Given the description of an element on the screen output the (x, y) to click on. 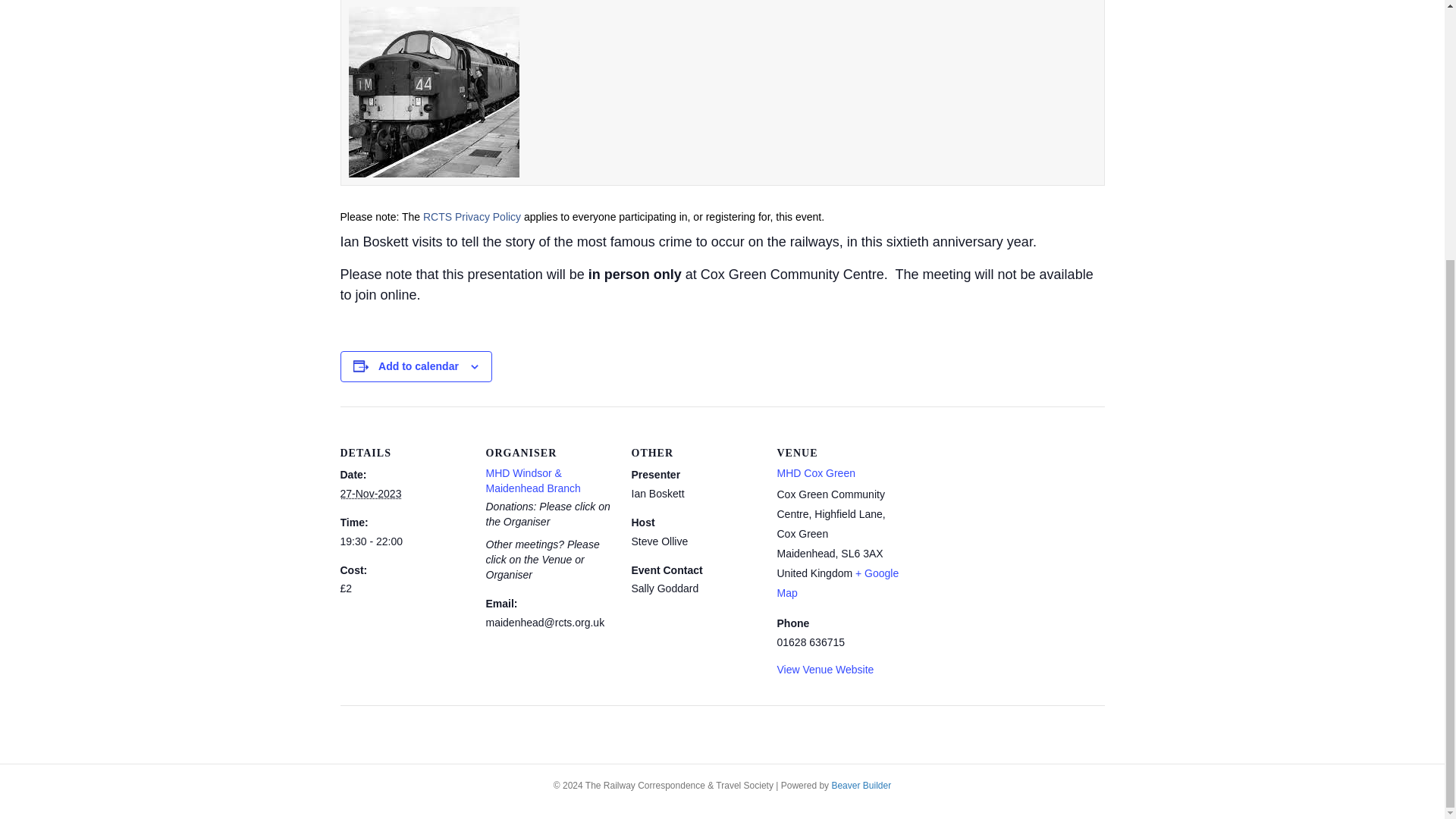
Add to calendar (418, 366)
Google maps iframe displaying the address to MHD Cox Green (1001, 510)
2023-11-27 (403, 541)
WordPress Page Builder Plugin (861, 785)
RCTS Privacy Policy (472, 216)
Click to view a Google Map (837, 582)
View Venue Website (824, 669)
MHD Cox Green (815, 472)
2023-11-27 (370, 493)
Beaver Builder (861, 785)
